Given the description of an element on the screen output the (x, y) to click on. 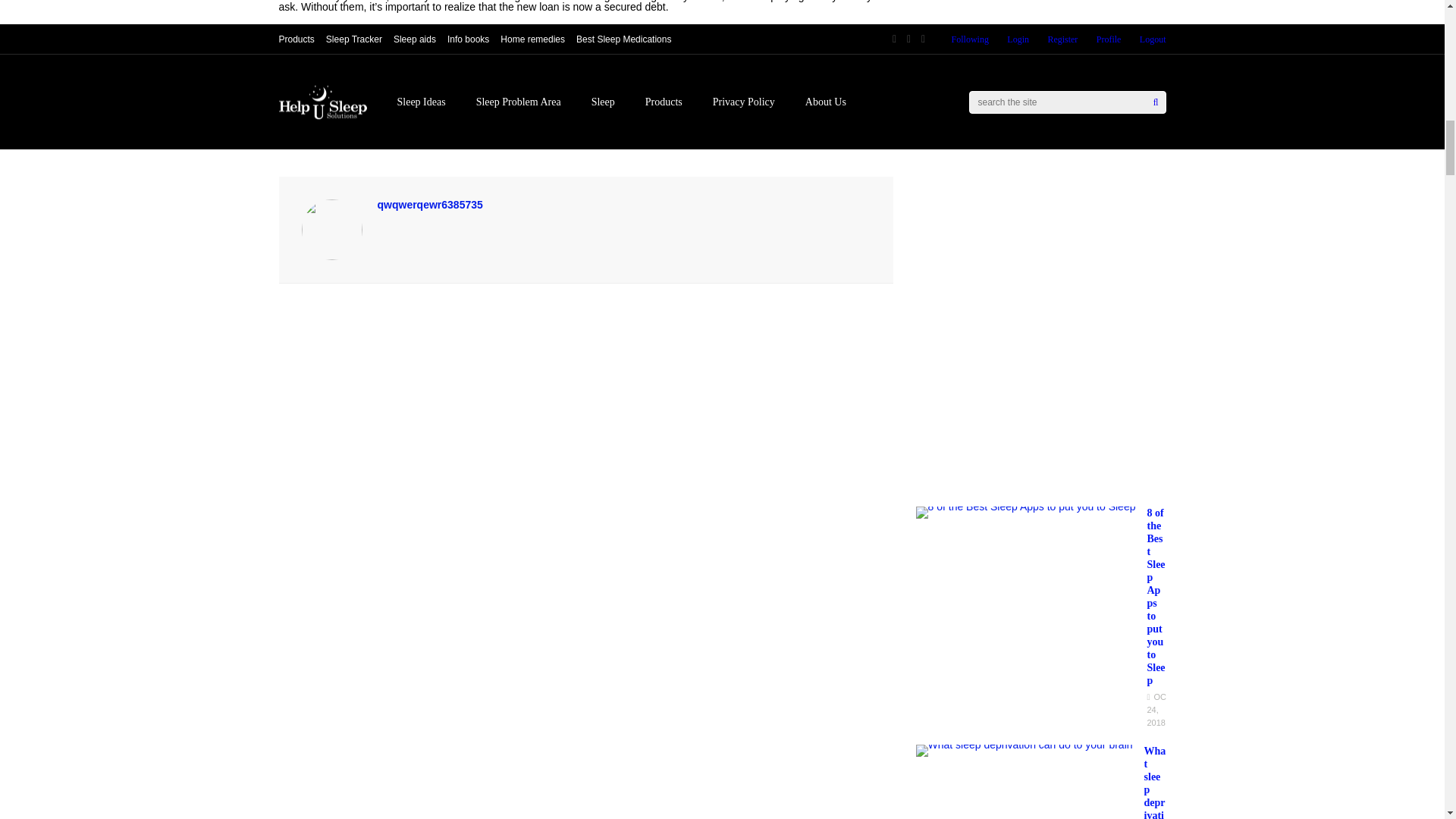
Click to share on Reddit (309, 131)
Click to email a link to a friend (502, 131)
Click to share on Facebook (317, 99)
Click to share on Tumblr (774, 99)
Click to share on Telegram (482, 99)
Click to share on WhatsApp (401, 99)
Click to share on Pinterest (699, 99)
Click to share on Twitter (626, 99)
Click to share on Pocket (557, 99)
Click to print (440, 131)
